Given the description of an element on the screen output the (x, y) to click on. 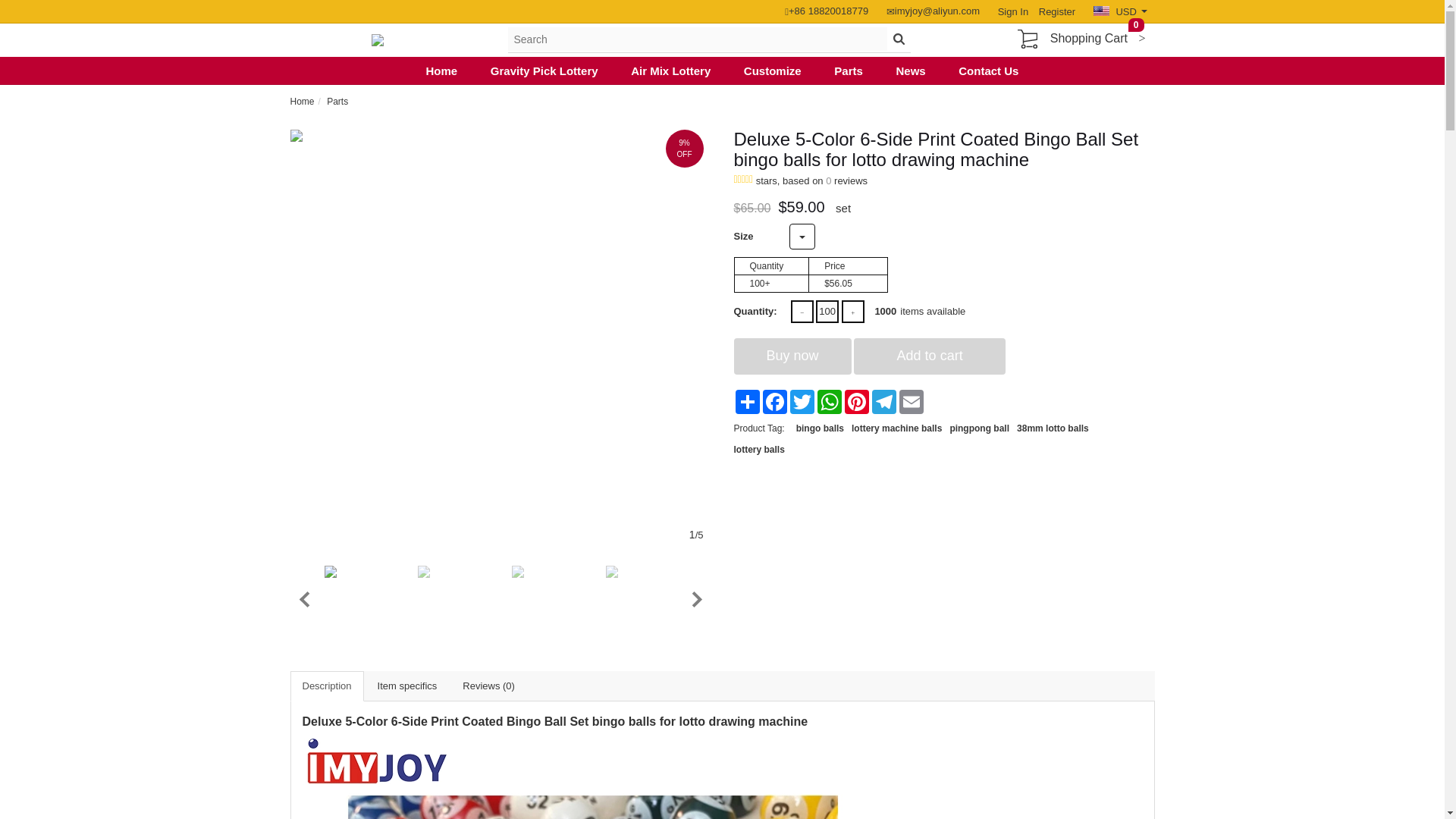
Home (442, 70)
Customize (773, 70)
Customize (773, 70)
100 (826, 311)
USD (1120, 11)
Register (1052, 11)
News (909, 70)
Sign In (1012, 11)
Contact Us (987, 70)
Air mix lottery (670, 70)
Parts (336, 101)
Air Mix Lottery (670, 70)
Gravity Pick Lottery (544, 70)
Sign In (1012, 11)
News (909, 70)
